Given the description of an element on the screen output the (x, y) to click on. 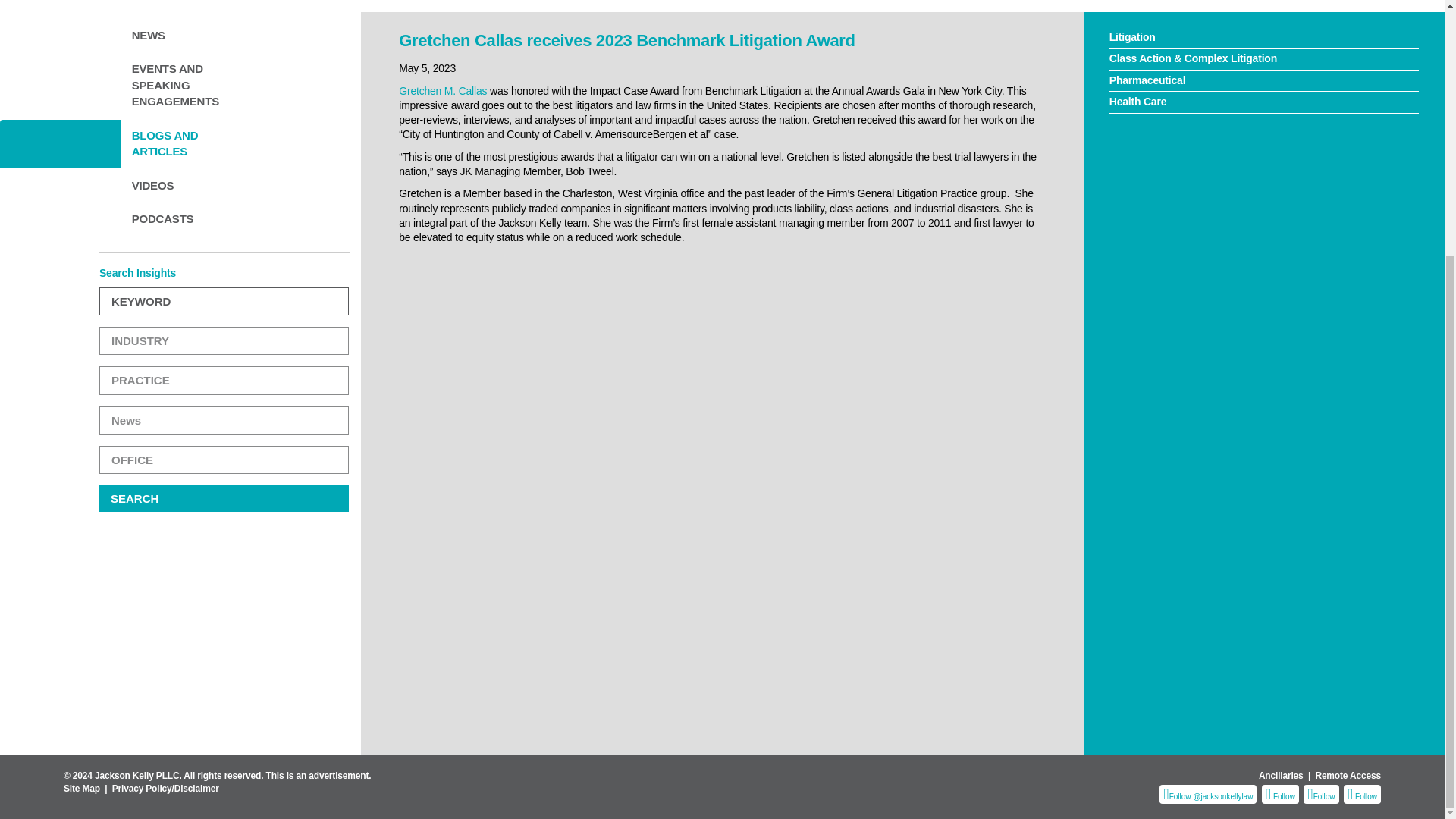
  EVENTS AND SPEAKING ENGAGEMENTS (180, 85)
  PODCASTS (180, 218)
Gretchen M. Callas (442, 91)
Search (224, 498)
  NEWS (180, 34)
  BLOGS AND ARTICLES (180, 143)
  VIDEOS (180, 184)
Search (224, 498)
